Given the description of an element on the screen output the (x, y) to click on. 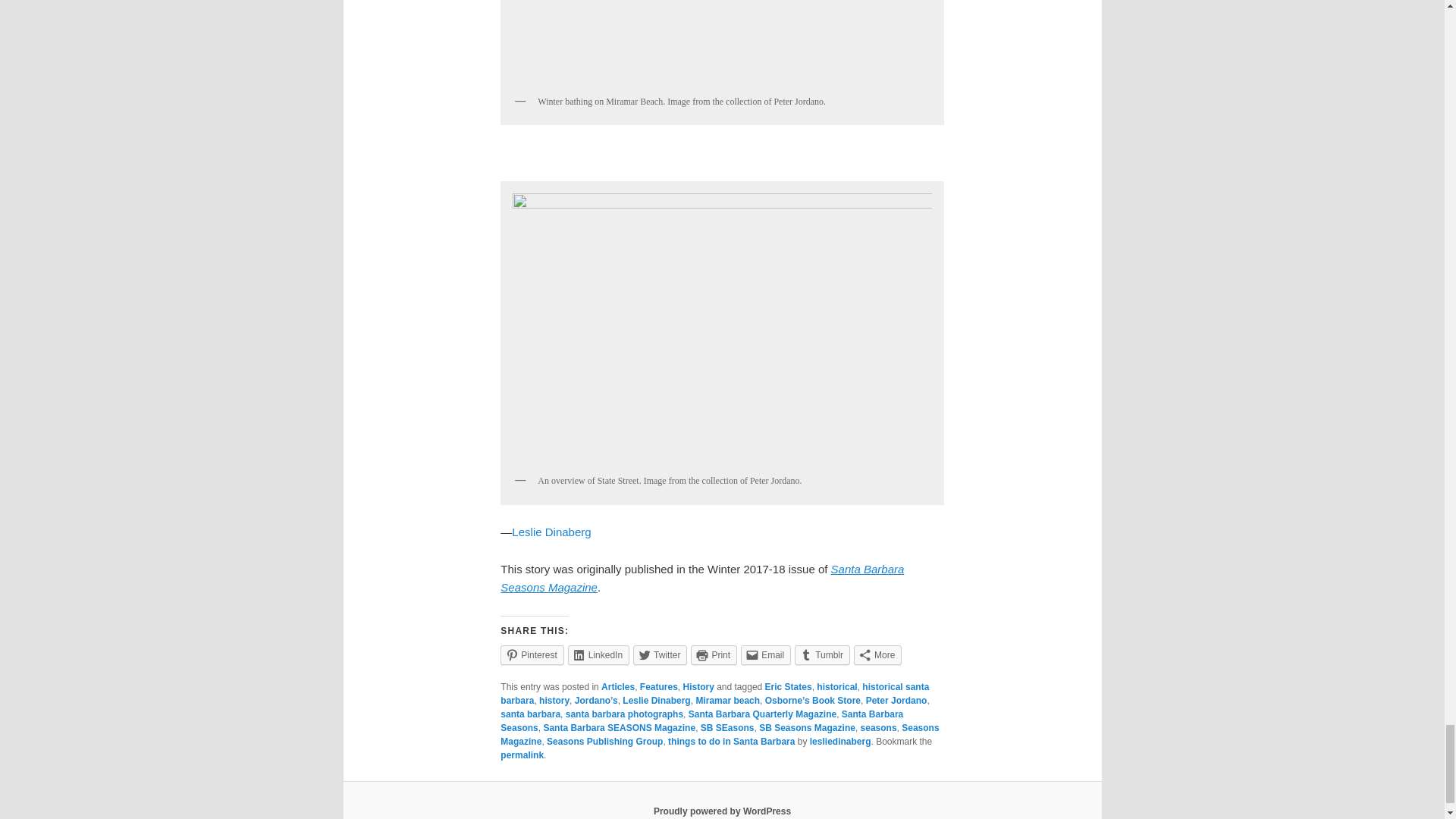
LinkedIn (597, 655)
Pinterest (531, 655)
Click to print (713, 655)
Semantic Personal Publishing Platform (721, 810)
Click to share on Twitter (660, 655)
Leslie Dinaberg (551, 531)
Tumblr (822, 655)
Click to share on Tumblr (822, 655)
Click to email this to a friend (765, 655)
More (877, 655)
Print (713, 655)
Santa Barbara Seasons Magazine (702, 577)
Permalink to Postcards from the Past (521, 755)
Click to share on LinkedIn (597, 655)
Twitter (660, 655)
